Given the description of an element on the screen output the (x, y) to click on. 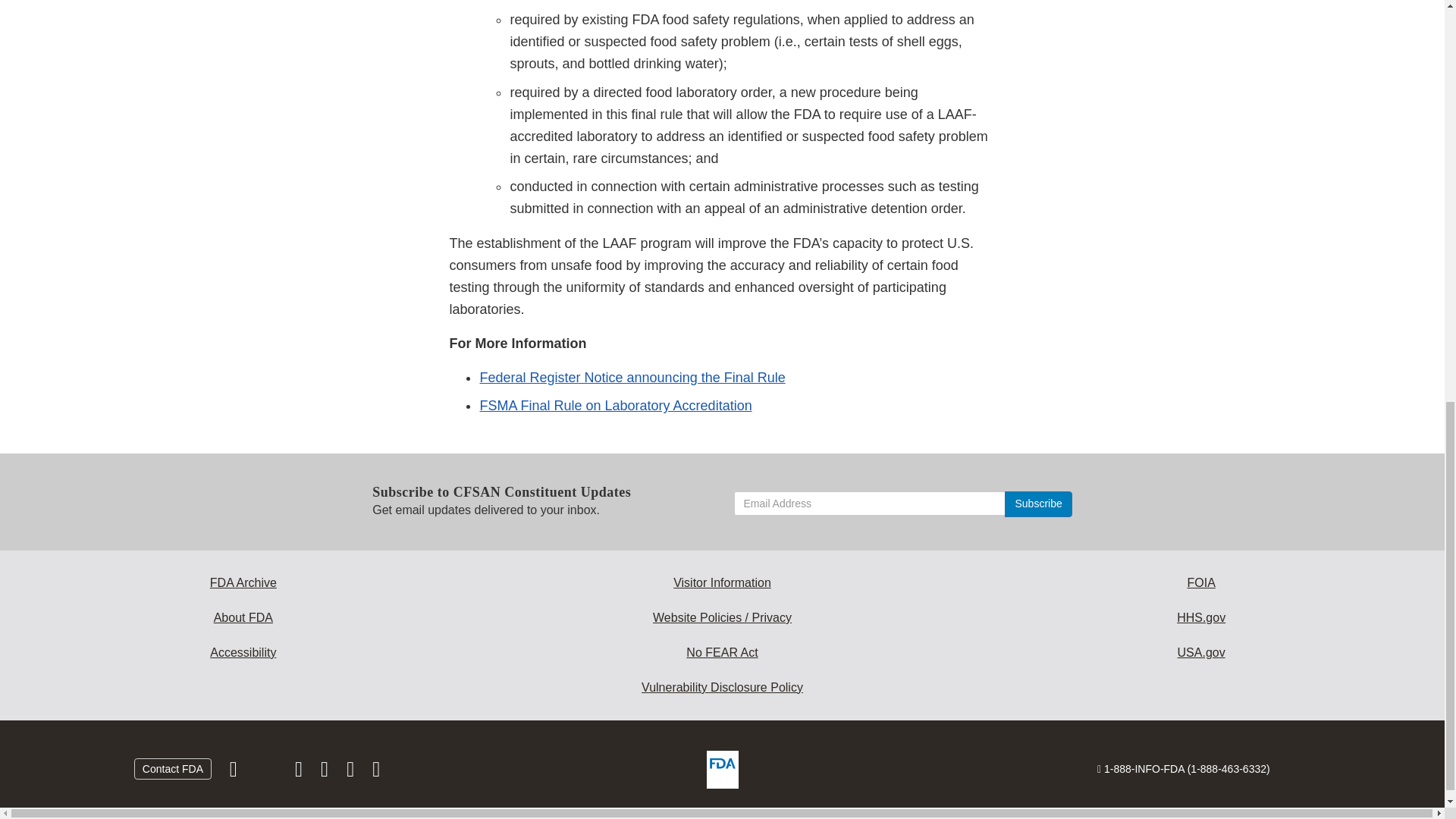
Subscribe to FDA RSS feeds (376, 772)
Health and Human Services (1200, 617)
Follow FDA on Instagram (299, 772)
Subscribe (1037, 503)
Follow FDA on Facebook (234, 772)
View FDA videos on YouTube (352, 772)
Follow FDA on X (266, 772)
Freedom of Information Act (1200, 582)
Follow FDA on LinkedIn (326, 772)
